Given the description of an element on the screen output the (x, y) to click on. 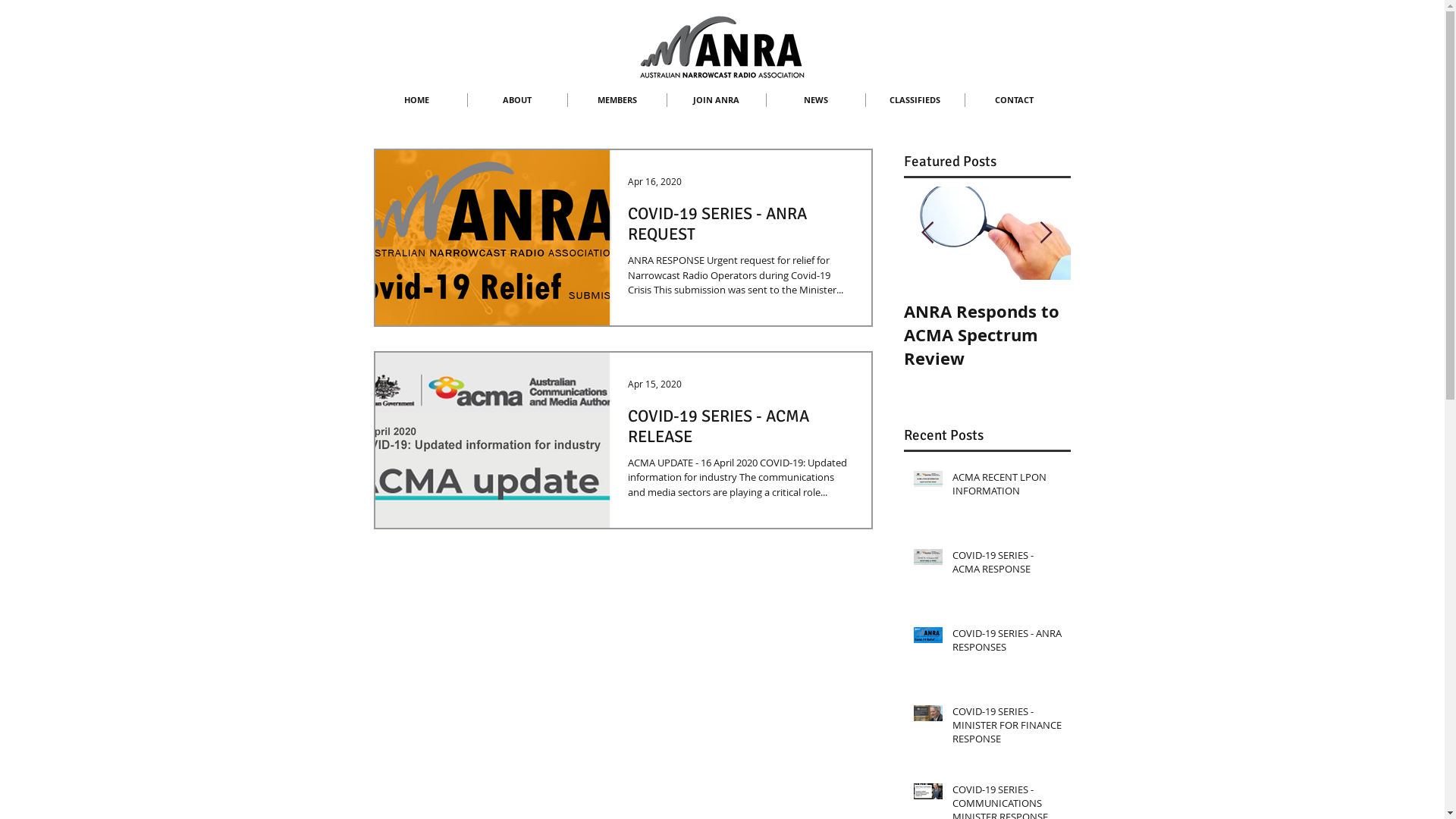
CLASSIFIEDS Element type: text (915, 99)
COVID-19 SERIES - MINISTER FOR FINANCE RESPONSE Element type: text (1006, 728)
COVID-19 SERIES - ACMA RESPONSE Element type: text (1006, 564)
MEMBERS Element type: text (616, 99)
HOME Element type: text (417, 99)
COVID-19 SERIES - ACMA RELEASE Element type: text (740, 430)
ANRA-Logo_3D.png Element type: hover (721, 47)
ABOUT Element type: text (516, 99)
ANRA Responds to ACMA Spectrum Review Element type: text (1146, 334)
NEWS Element type: text (814, 99)
CONTACT Element type: text (1013, 99)
COVID-19 SERIES - ANRA REQUEST Element type: text (740, 228)
ACMA RECENT LPON INFORMATION Element type: text (1006, 486)
COVID-19 SERIES - ANRA RESPONSES Element type: text (1006, 642)
JOIN ANRA Element type: text (716, 99)
ANRA responds to Radcomm Bill 2016 Element type: text (981, 322)
